Given the description of an element on the screen output the (x, y) to click on. 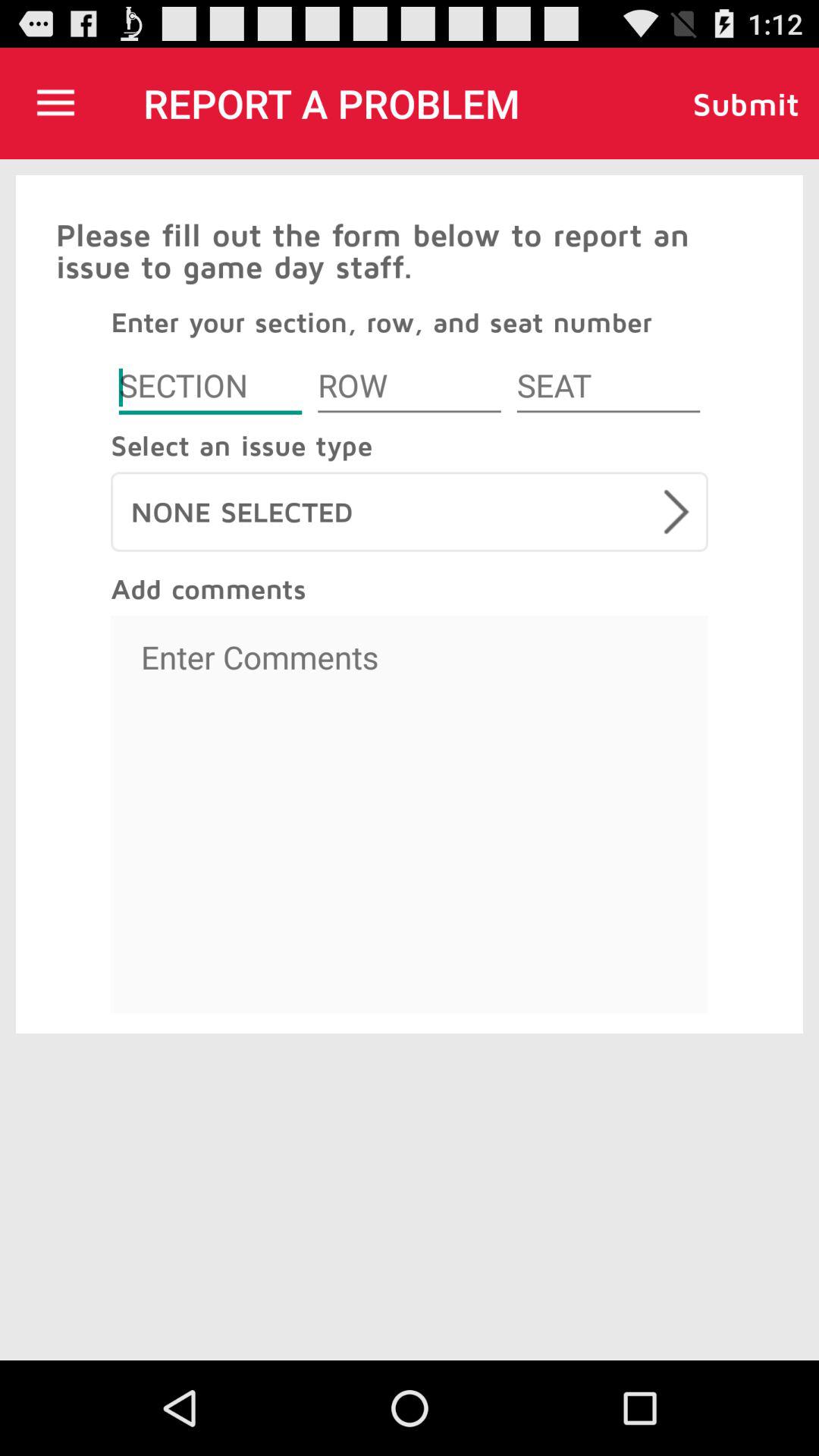
add seat number (608, 388)
